Given the description of an element on the screen output the (x, y) to click on. 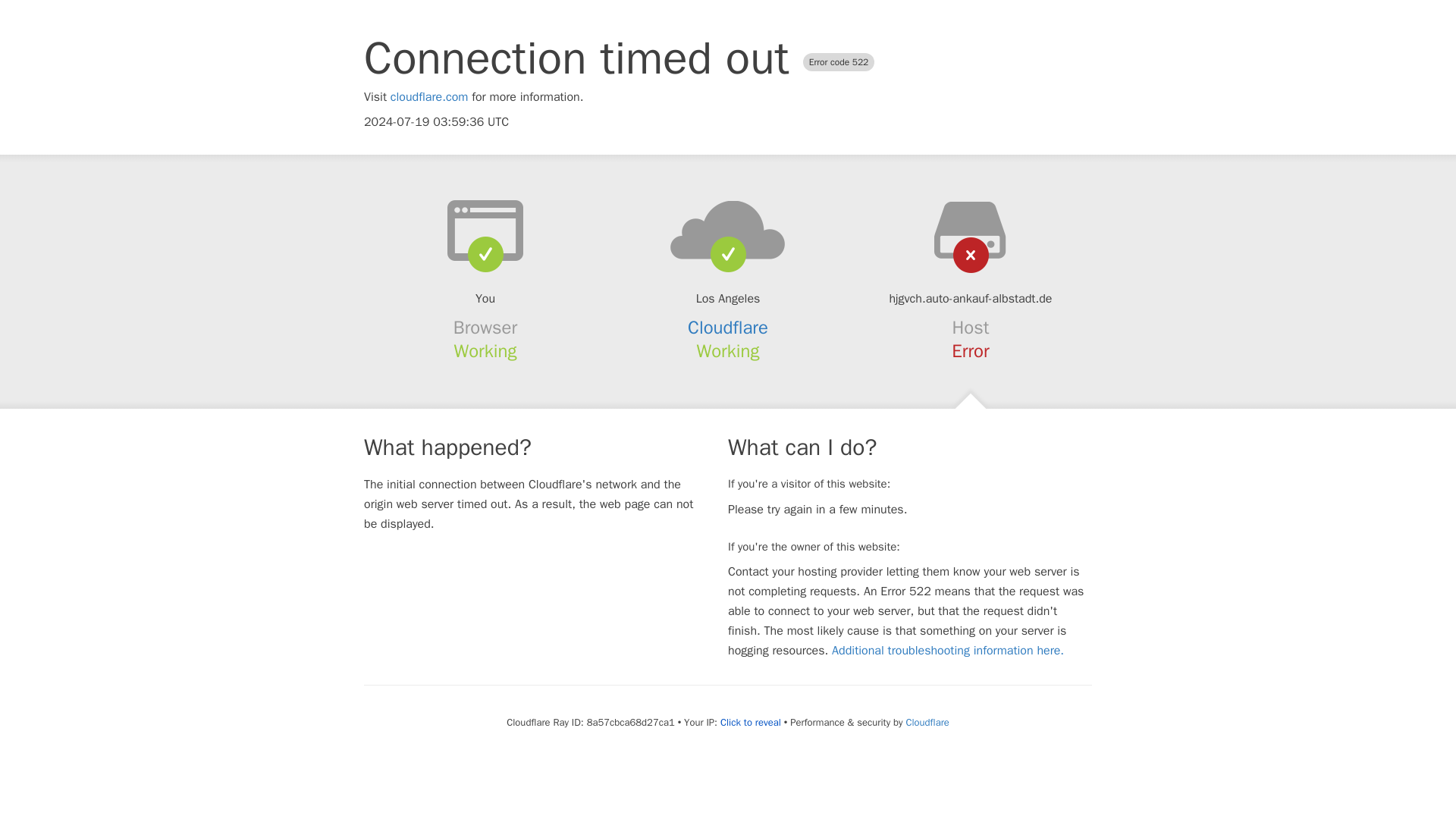
Cloudflare (927, 721)
Cloudflare (727, 327)
cloudflare.com (429, 96)
Click to reveal (750, 722)
Additional troubleshooting information here. (947, 650)
